Given the description of an element on the screen output the (x, y) to click on. 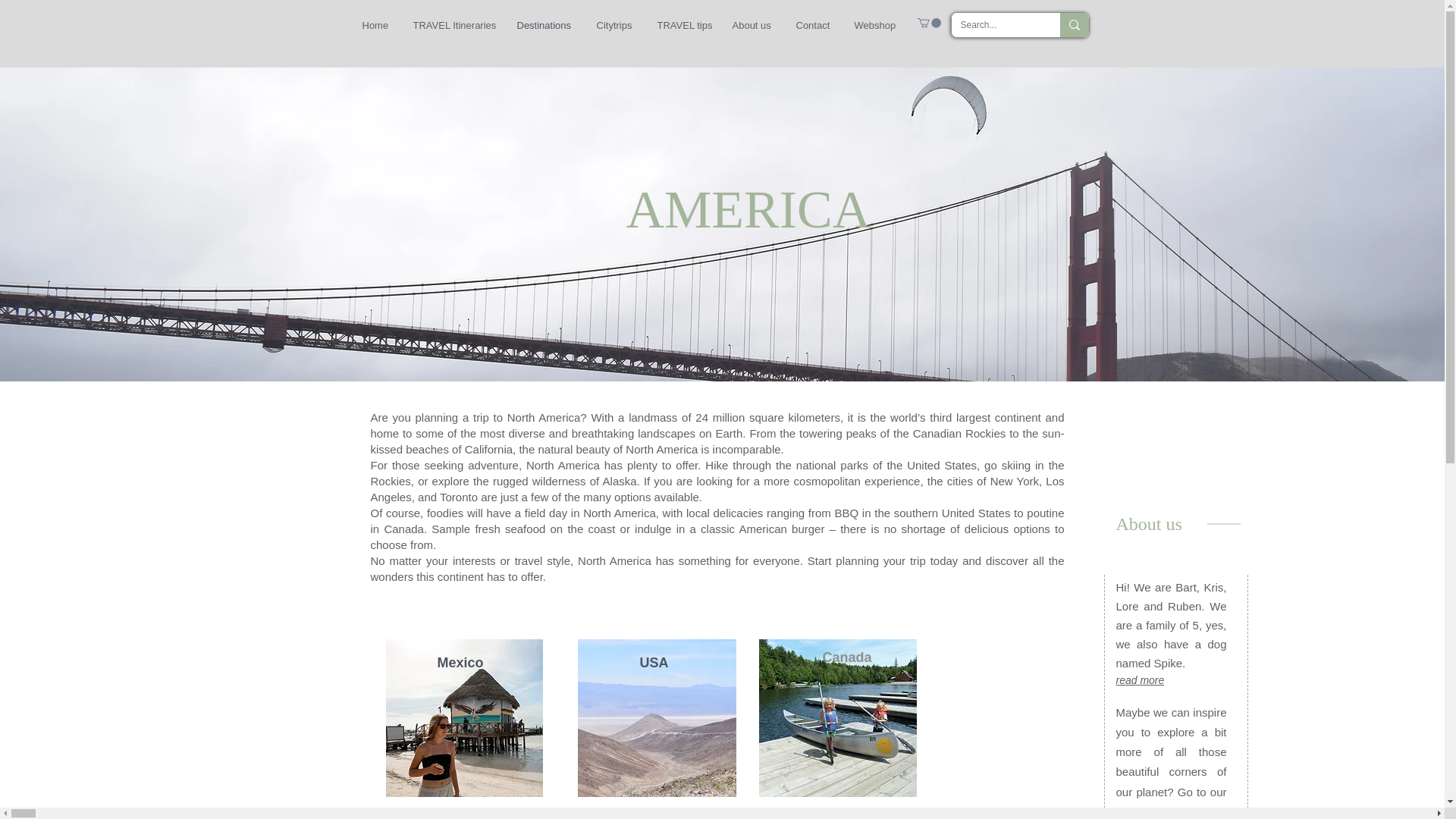
Citytrips (615, 25)
TRAVEL Itineraries (453, 25)
Contact (813, 25)
About us (752, 25)
Destinations (545, 25)
Home (375, 25)
TRAVEL tips (683, 25)
